Given the description of an element on the screen output the (x, y) to click on. 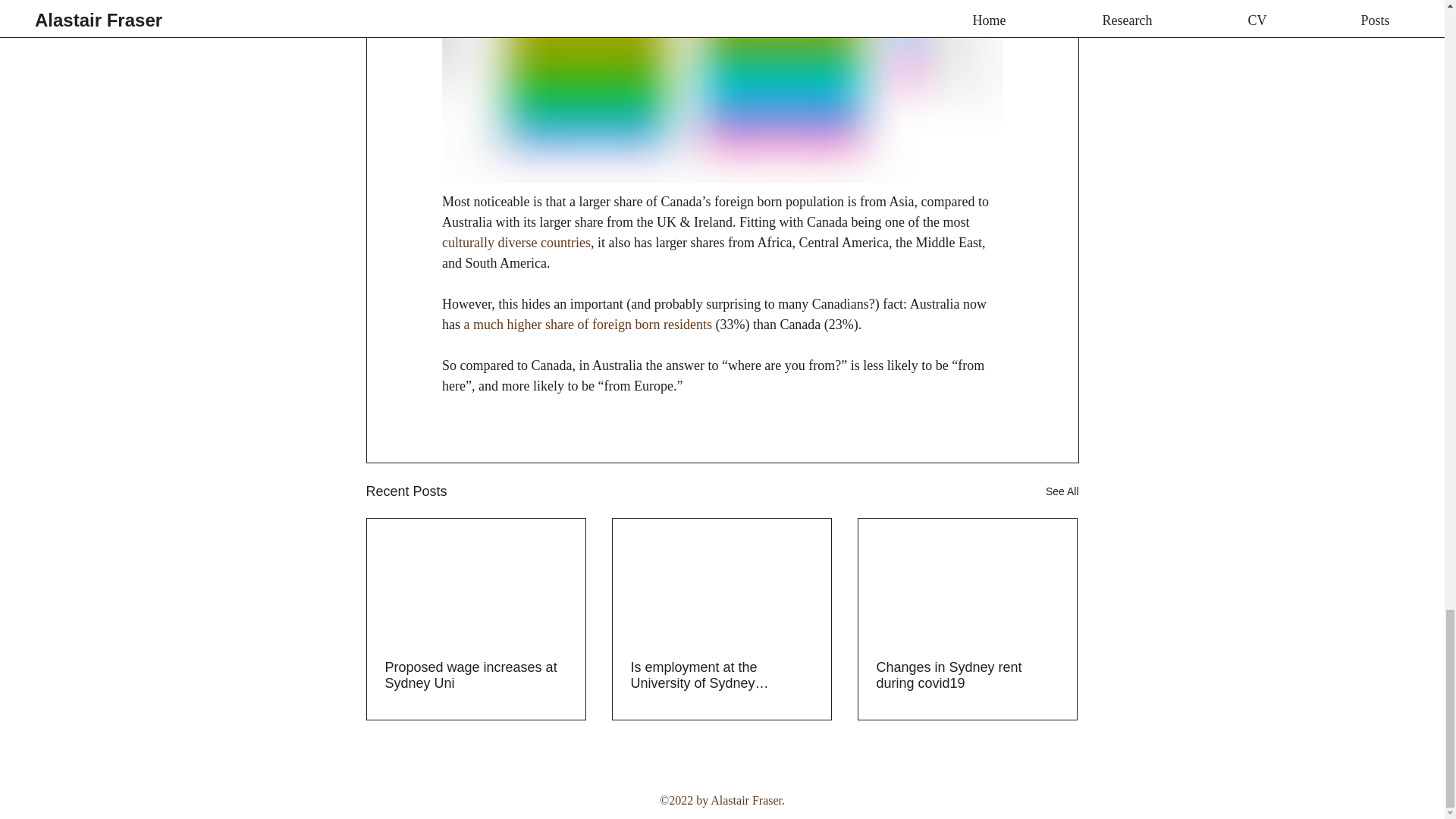
See All (1061, 491)
culturally diverse countries (515, 242)
Changes in Sydney rent during covid19 (967, 675)
a much higher share of foreign born residents (587, 324)
Proposed wage increases at Sydney Uni (476, 675)
